Given the description of an element on the screen output the (x, y) to click on. 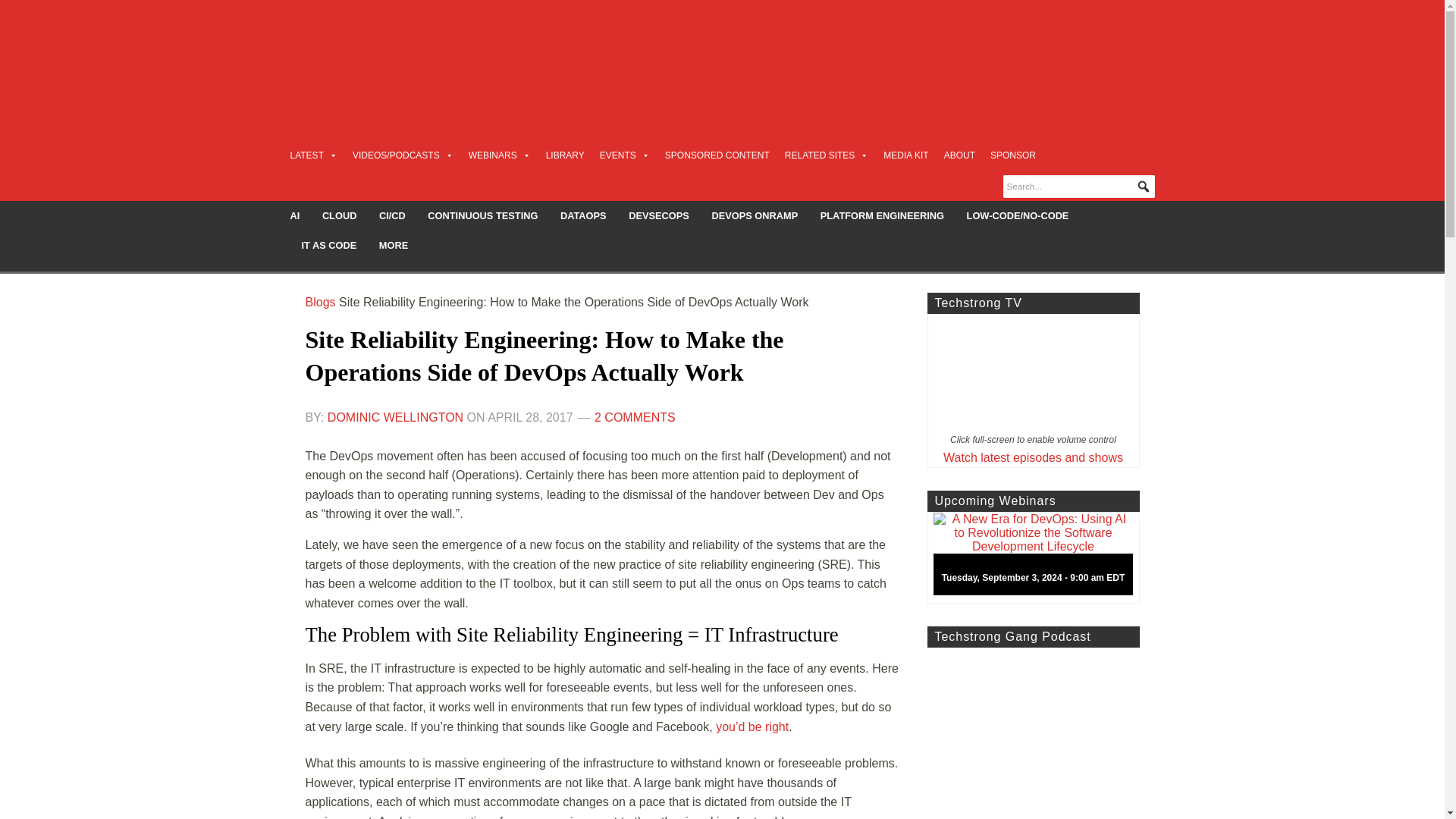
RELATED SITES (825, 155)
WEBINARS (499, 155)
LATEST (312, 155)
SPONSORED CONTENT (717, 155)
LIBRARY (565, 155)
EVENTS (624, 155)
Tuesday, September 3, 2024 - 9:00 am EDT (1038, 557)
DEVOPS.COM (414, 56)
Techstrong Gang (1032, 733)
